Given the description of an element on the screen output the (x, y) to click on. 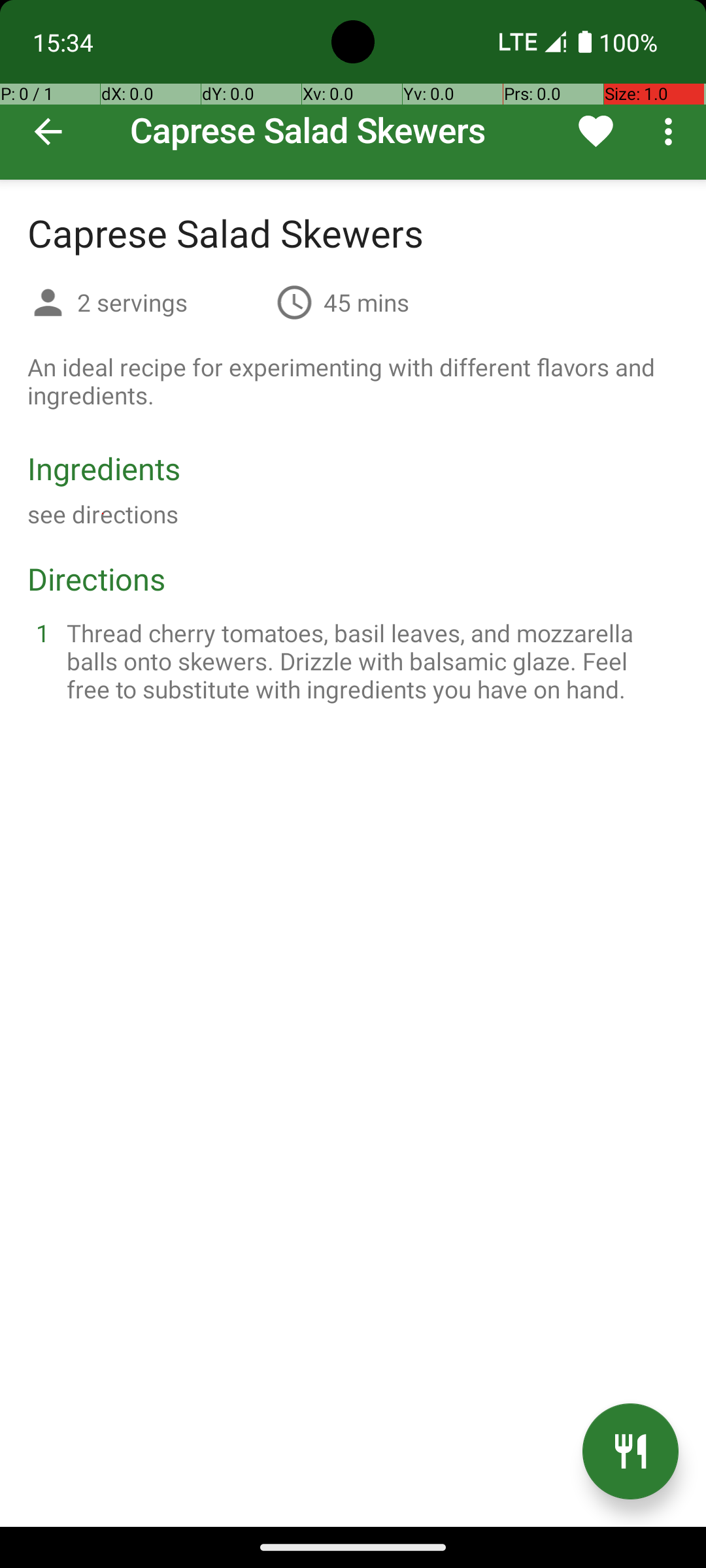
Thread cherry tomatoes, basil leaves, and mozzarella balls onto skewers. Drizzle with balsamic glaze. Feel free to substitute with ingredients you have on hand. Element type: android.widget.TextView (368, 660)
